Given the description of an element on the screen output the (x, y) to click on. 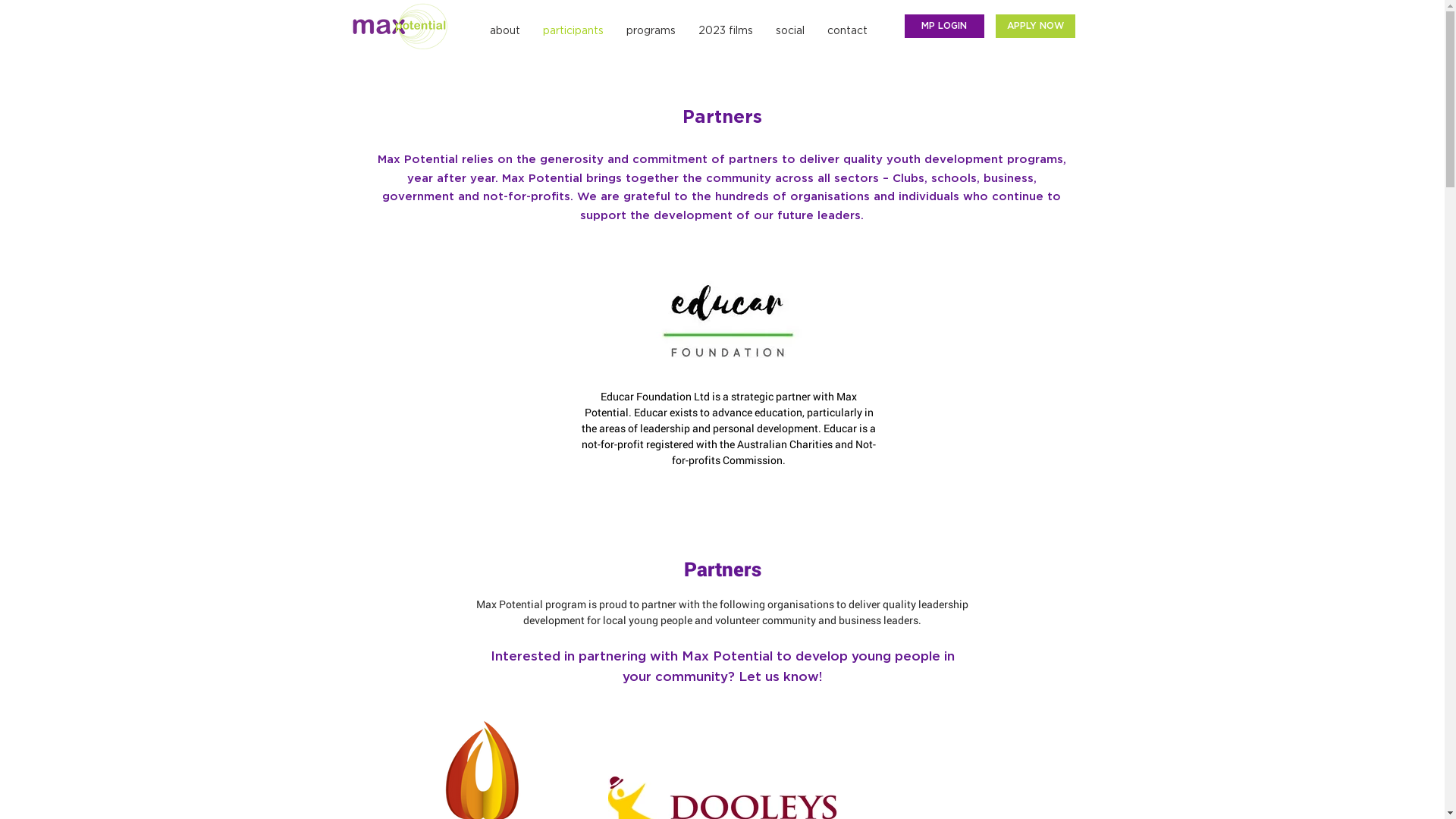
APPLY NOW Element type: text (1034, 25)
contact Element type: text (846, 31)
about Element type: text (503, 31)
participants Element type: text (572, 31)
MP LOGIN Element type: text (943, 25)
2023 films Element type: text (725, 31)
programs Element type: text (650, 31)
social Element type: text (789, 31)
